Given the description of an element on the screen output the (x, y) to click on. 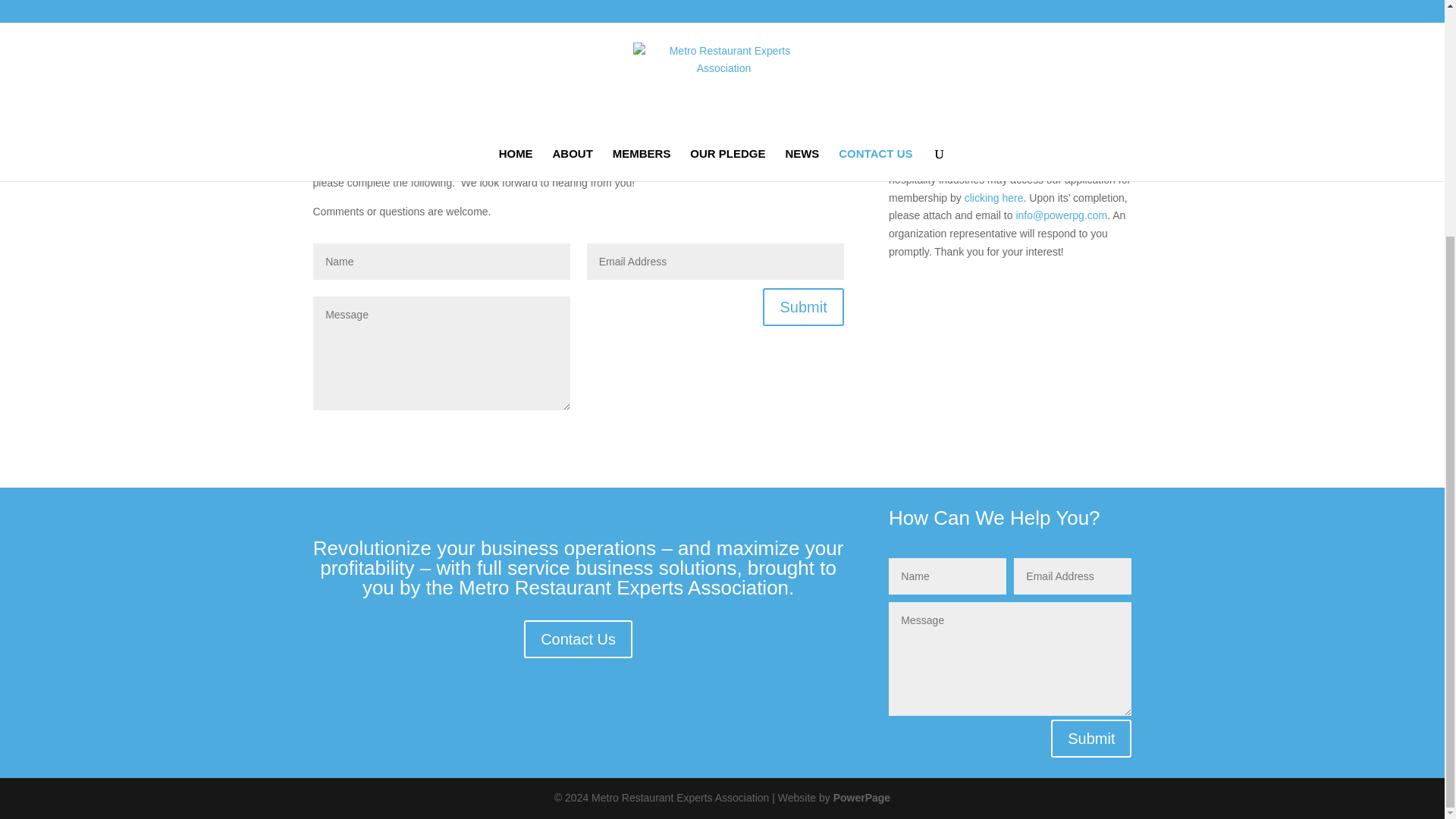
clicking here (993, 197)
Submit (1091, 738)
Submit (802, 306)
Contact Us (577, 638)
PowerPage (860, 797)
